Given the description of an element on the screen output the (x, y) to click on. 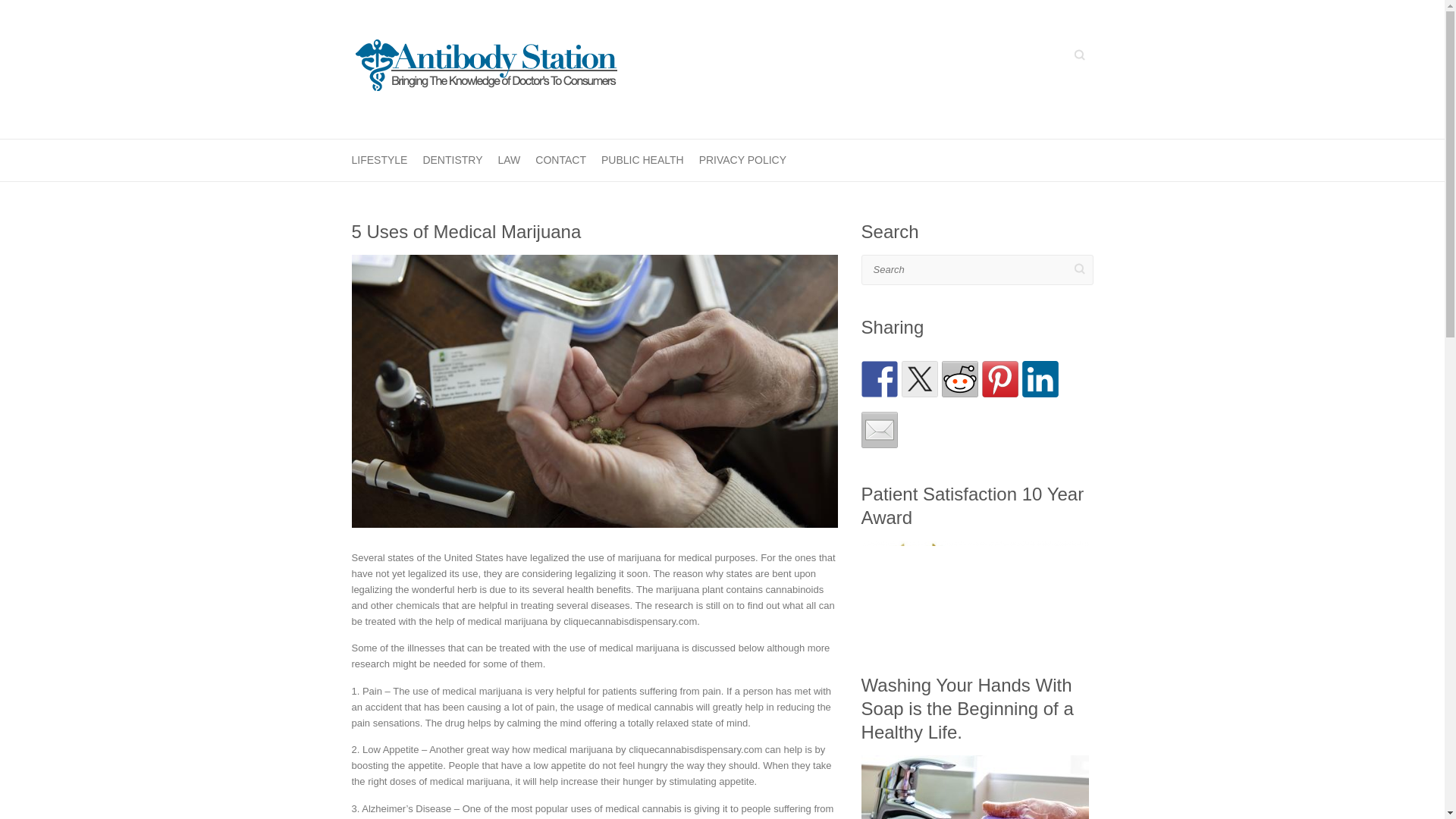
CONTACT (560, 159)
Antibody (486, 69)
Share on Facebook (879, 379)
Share on Twitter (919, 379)
PRIVACY POLICY (742, 159)
Share on Reddit (960, 379)
Pin it with Pinterest (999, 379)
DENTISTRY (451, 159)
LIFESTYLE (379, 159)
Share on Linkedin (1040, 379)
